Given the description of an element on the screen output the (x, y) to click on. 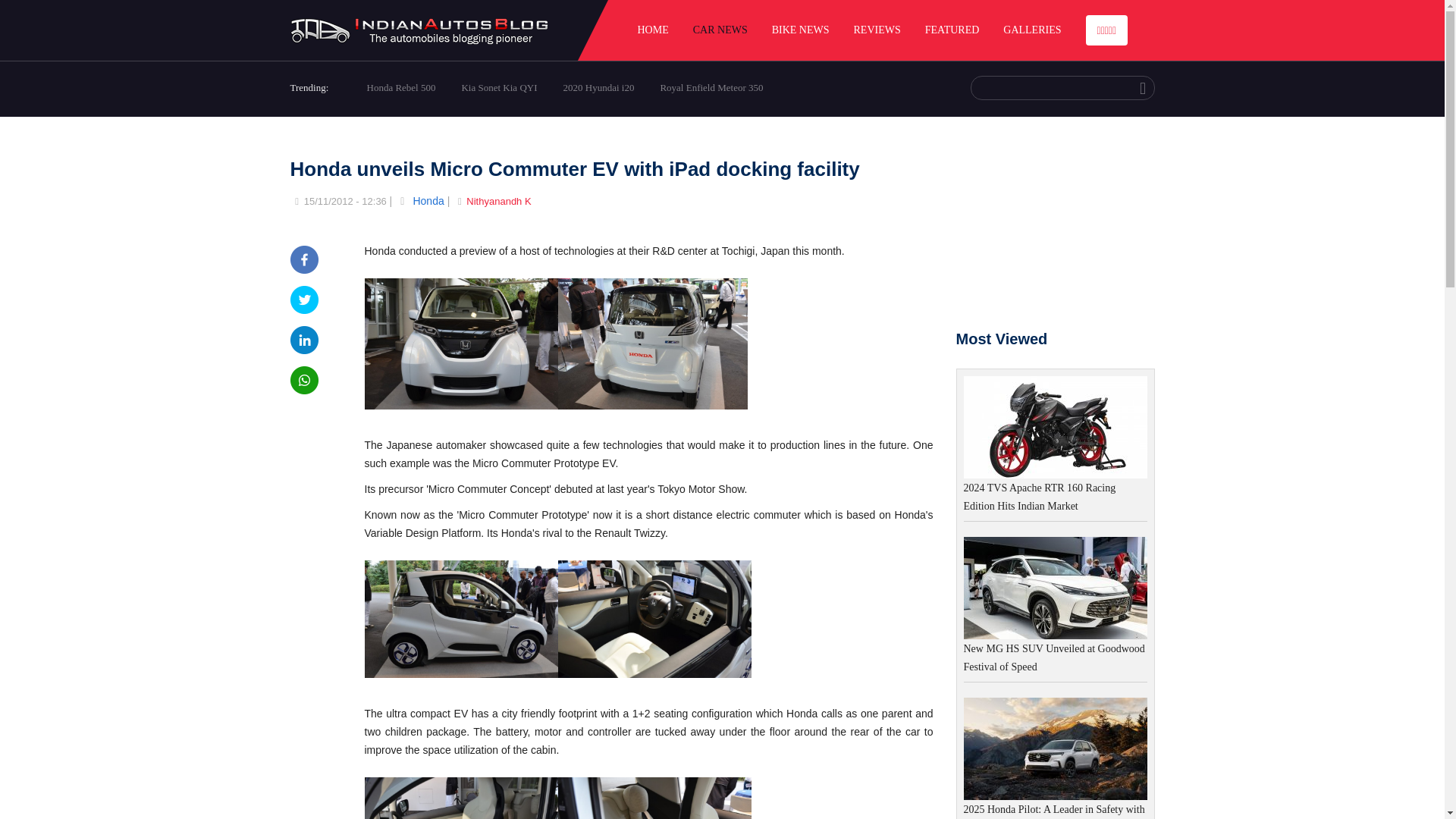
CAR NEWS (720, 30)
CAR NEWS (720, 30)
